Given the description of an element on the screen output the (x, y) to click on. 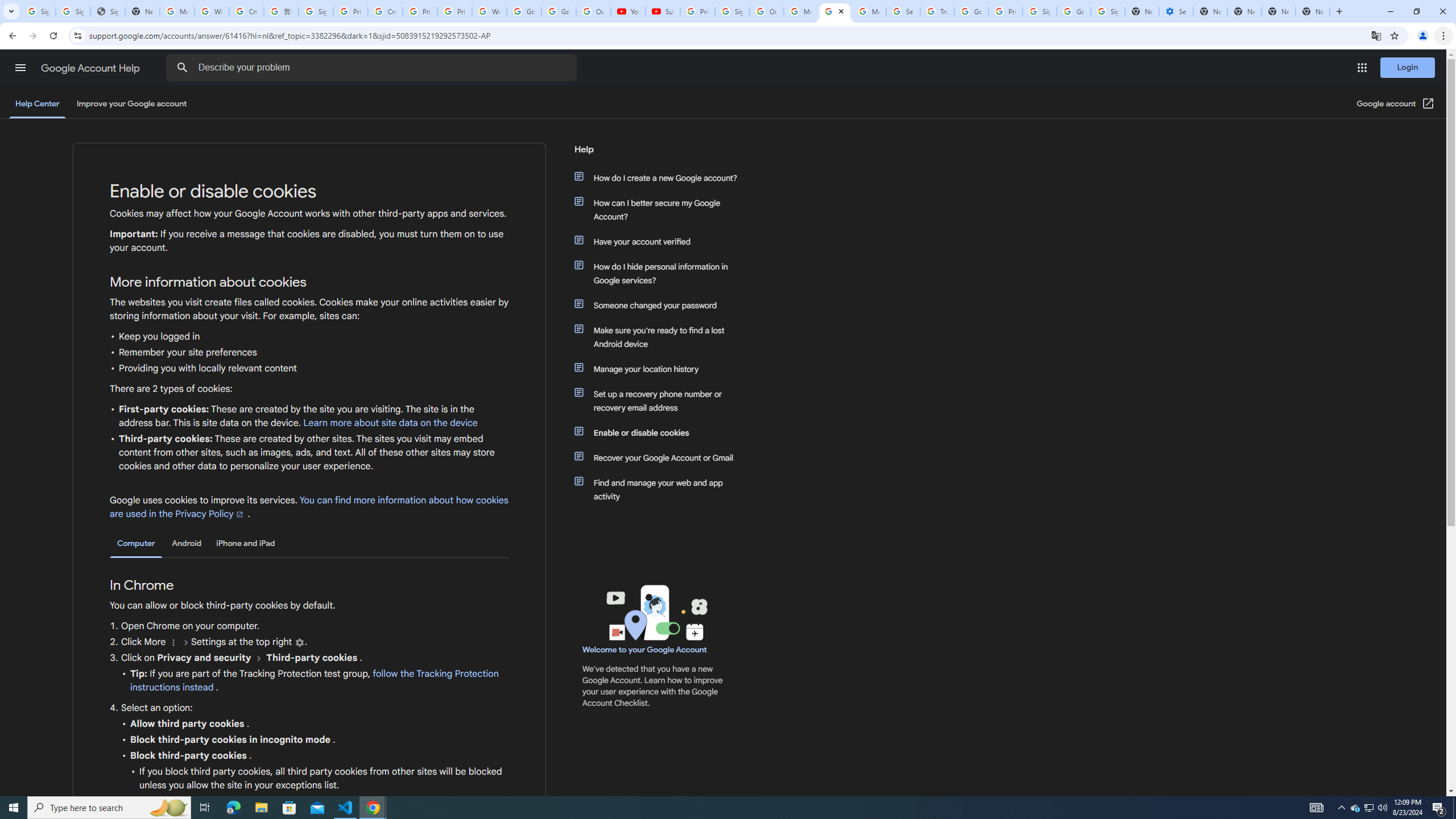
Android (186, 542)
More (173, 642)
Google Account (Opens in new window) (1395, 103)
iPhone and iPad (245, 542)
Institutions (299, 642)
Settings - Performance (1176, 11)
Search the Help Center (181, 67)
Search our Doodle Library Collection - Google Doodles (903, 11)
Translate this page (1376, 35)
